Given the description of an element on the screen output the (x, y) to click on. 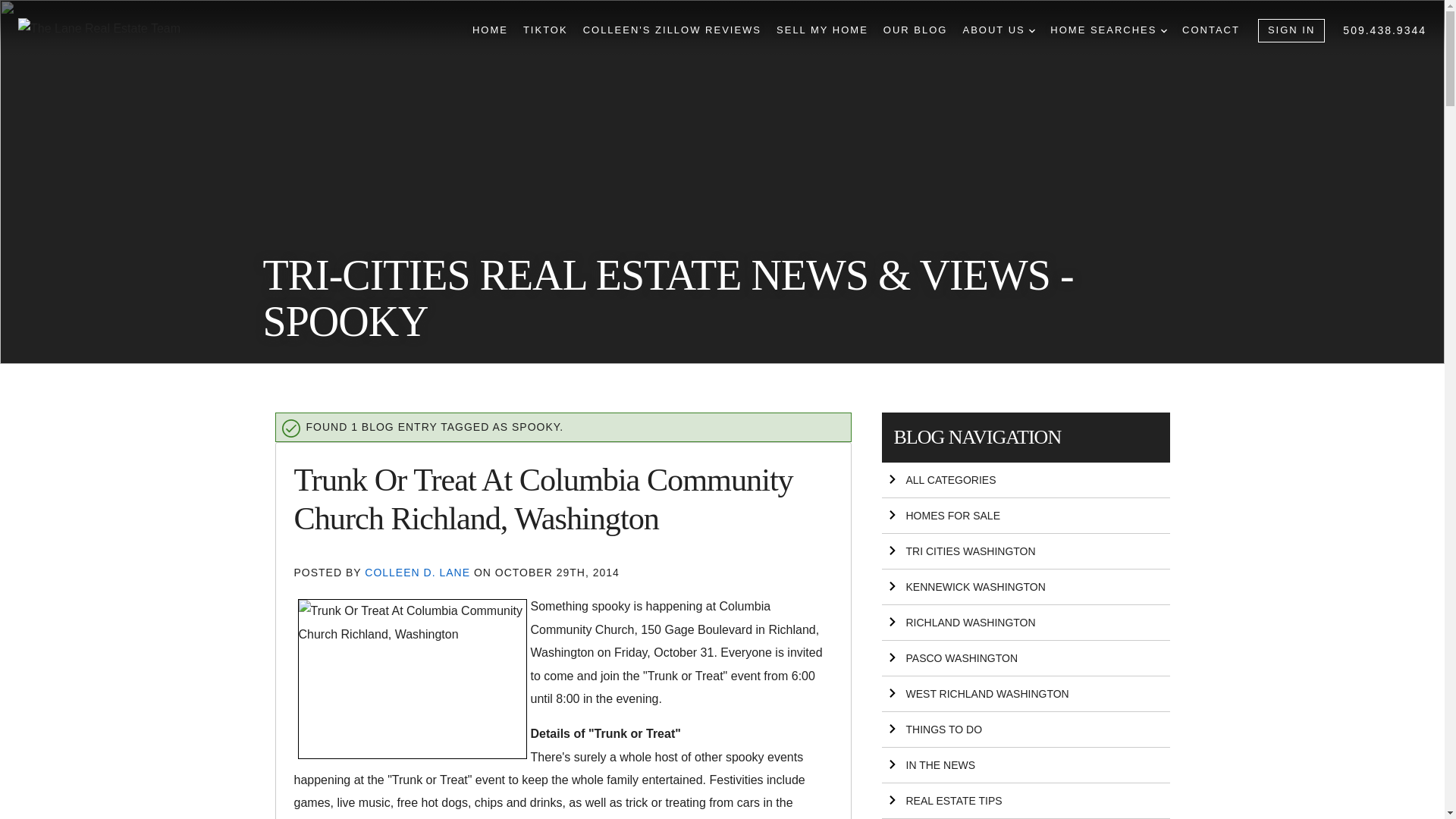
COLLEEN'S ZILLOW REVIEWS (672, 30)
ABOUT US DROPDOWN ARROW (998, 30)
HOME SEARCHES DROPDOWN ARROW (1108, 30)
SELL MY HOME (821, 30)
CONTACT (1211, 30)
HOME (489, 30)
DROPDOWN ARROW (1163, 30)
DROPDOWN ARROW (1032, 30)
TIKTOK (544, 30)
OUR BLOG (915, 30)
